Given the description of an element on the screen output the (x, y) to click on. 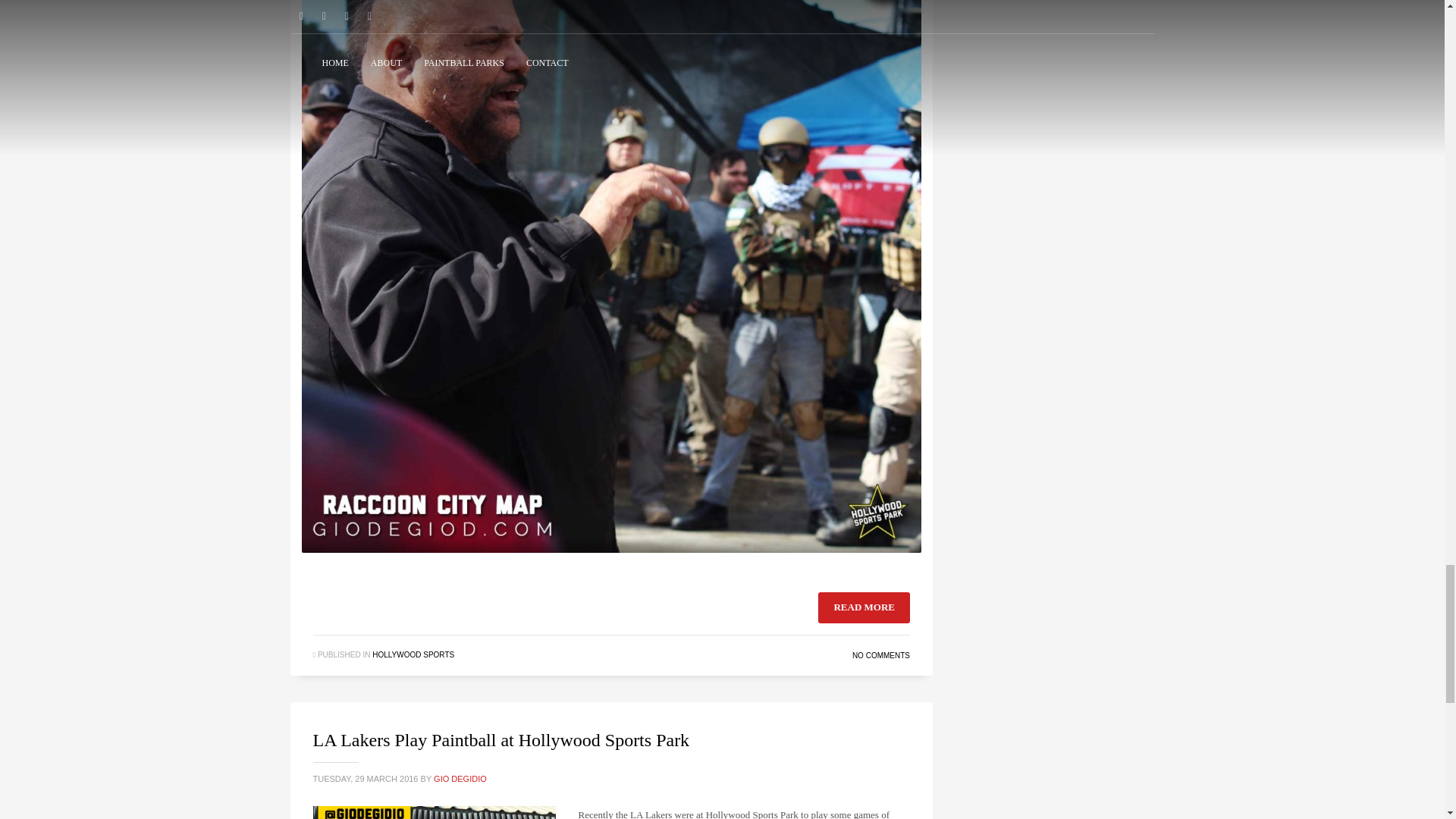
GIO DEGIDIO (459, 777)
HOLLYWOOD SPORTS (413, 654)
LA Lakers Play Paintball at Hollywood Sports Park (500, 740)
READ MORE (864, 607)
Posts by Gio Degidio (459, 777)
NO COMMENTS (880, 655)
